Given the description of an element on the screen output the (x, y) to click on. 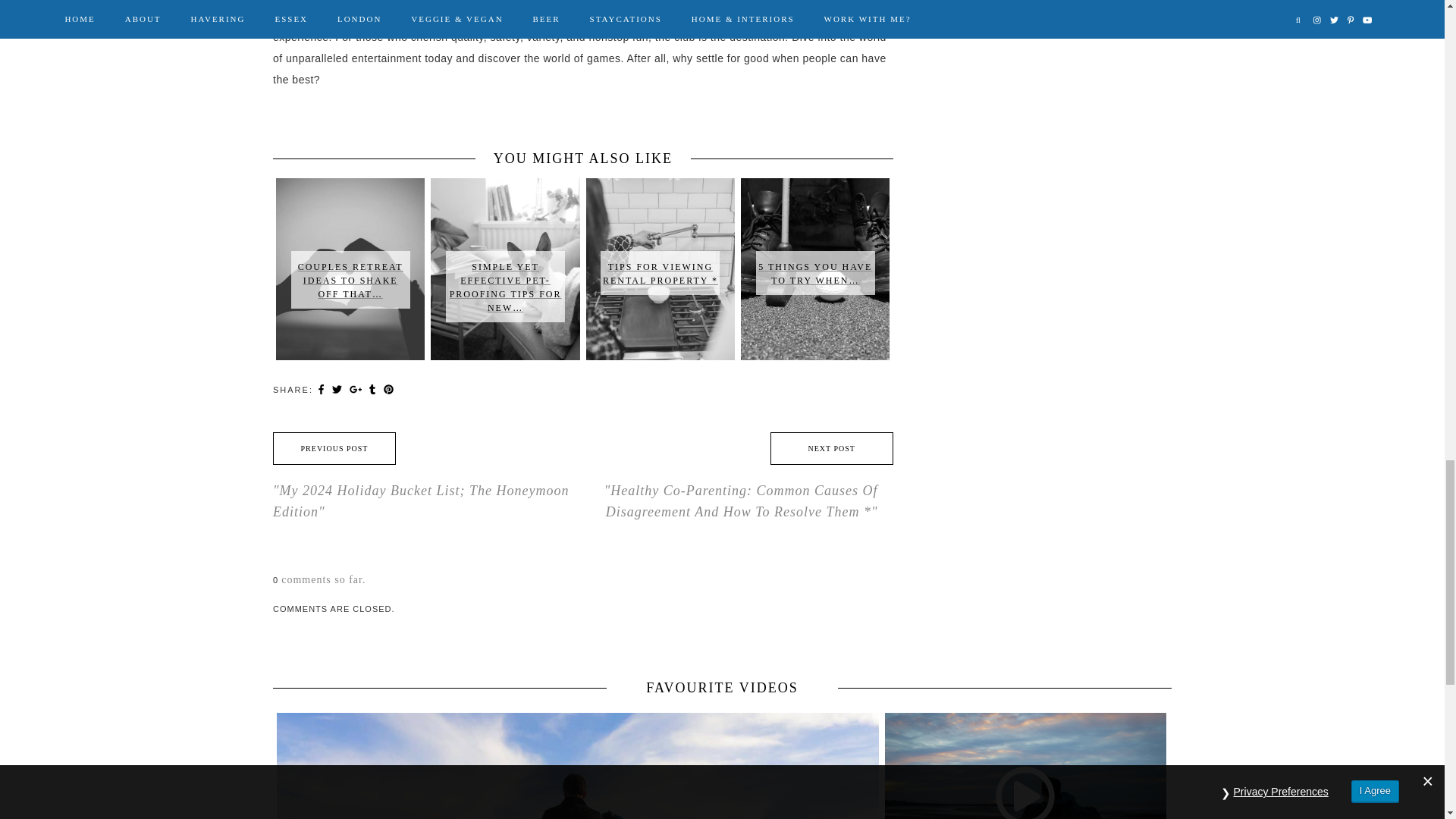
comments so far. (323, 579)
FAVOURITE VIDEOS (722, 687)
